Given the description of an element on the screen output the (x, y) to click on. 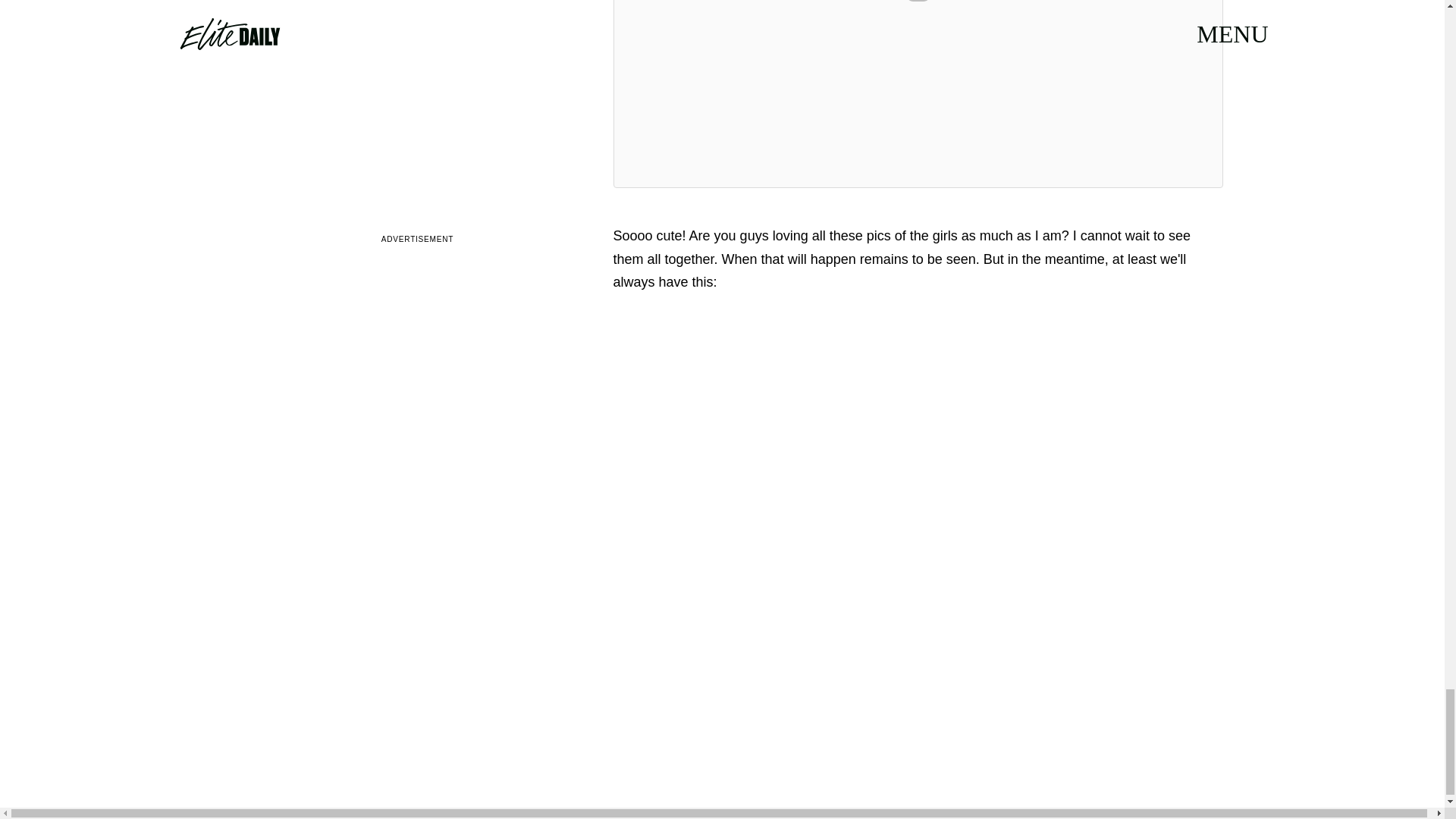
View on Instagram (917, 3)
